Given the description of an element on the screen output the (x, y) to click on. 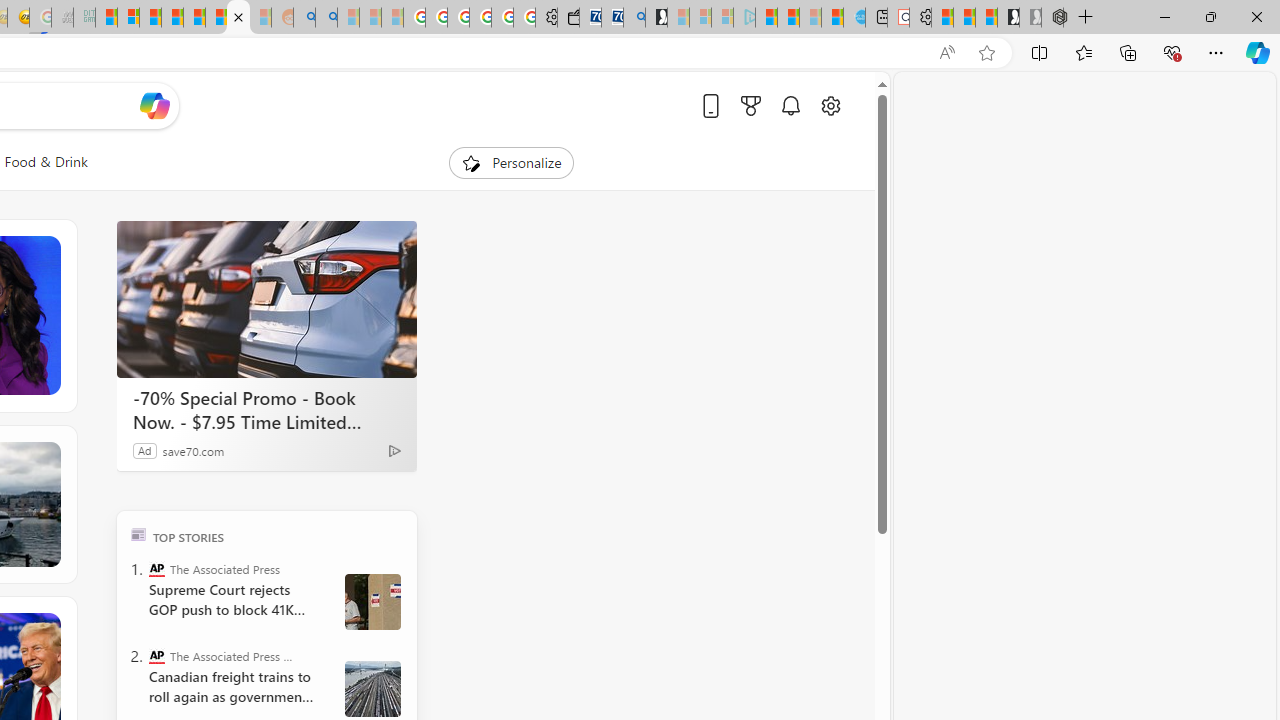
TOP (138, 534)
Bing Real Estate - Home sales and rental listings (634, 17)
save70.com (193, 450)
The Associated Press (156, 568)
